Given the description of an element on the screen output the (x, y) to click on. 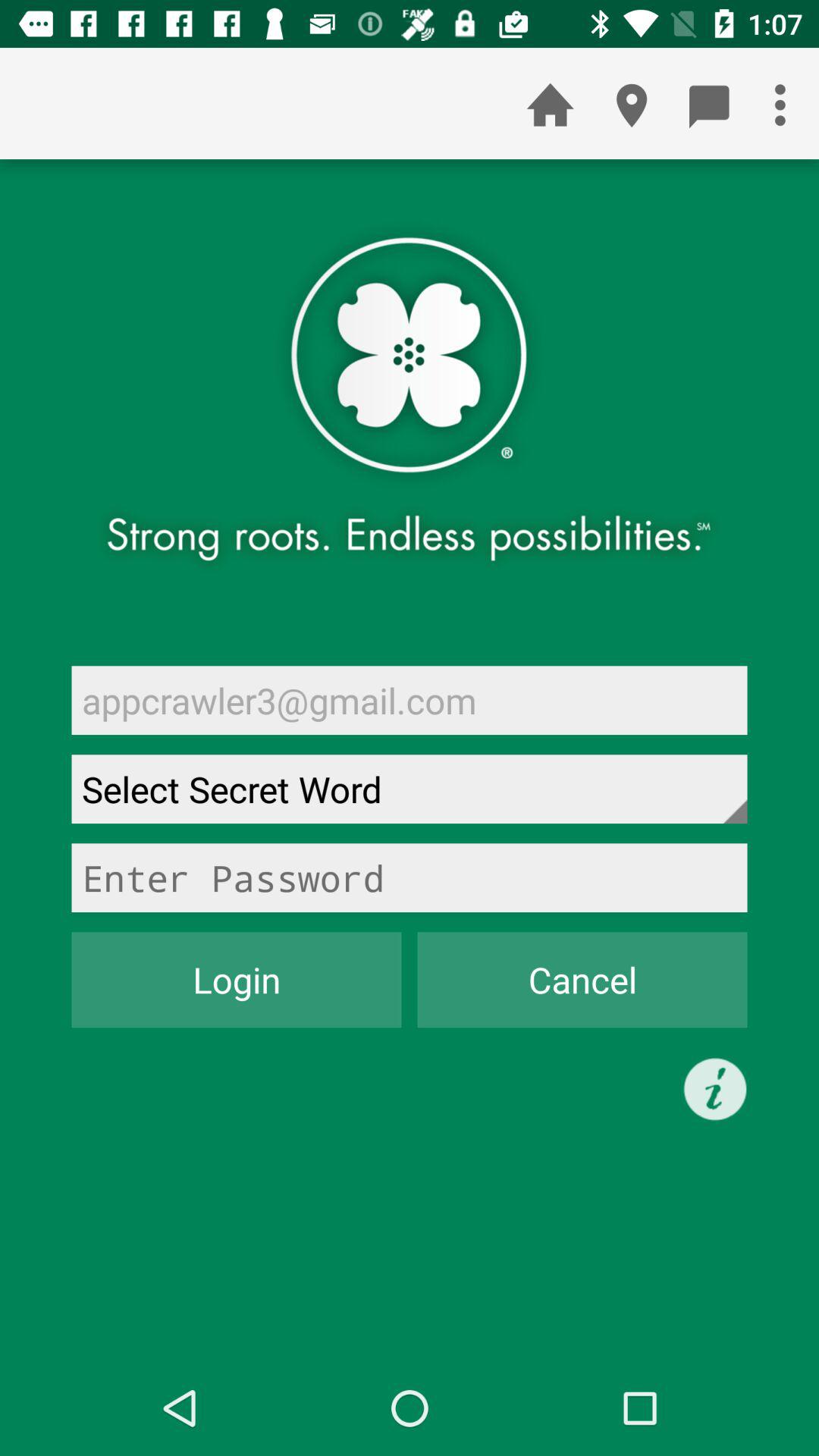
jump until the appcrawler3@gmail.com item (409, 700)
